Given the description of an element on the screen output the (x, y) to click on. 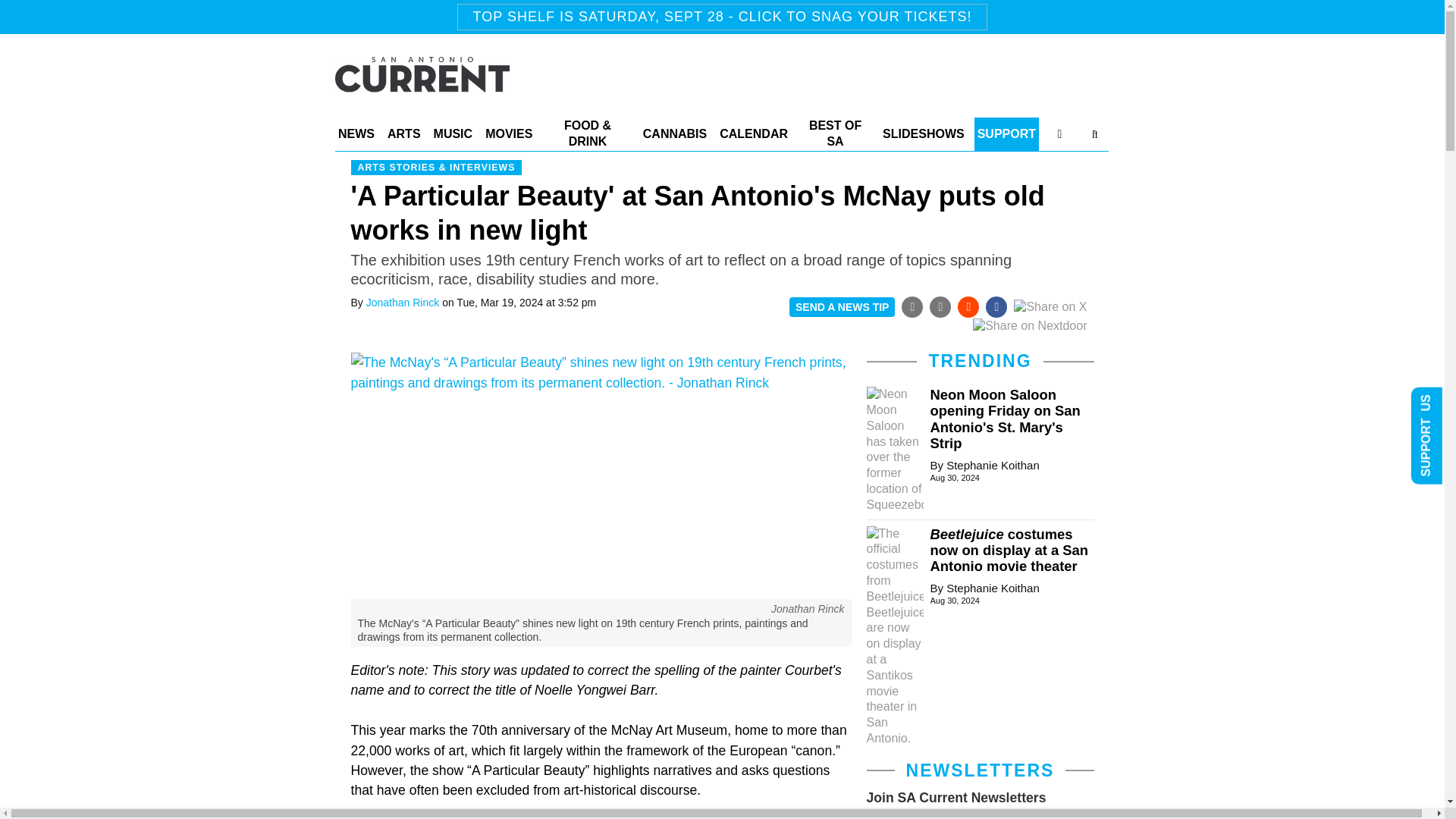
MUSIC (453, 133)
ARTS (403, 133)
MOVIES (508, 133)
San Antonio Current (421, 85)
TOP SHELF IS SATURDAY, SEPT 28 - CLICK TO SNAG YOUR TICKETS! (722, 17)
